Given the description of an element on the screen output the (x, y) to click on. 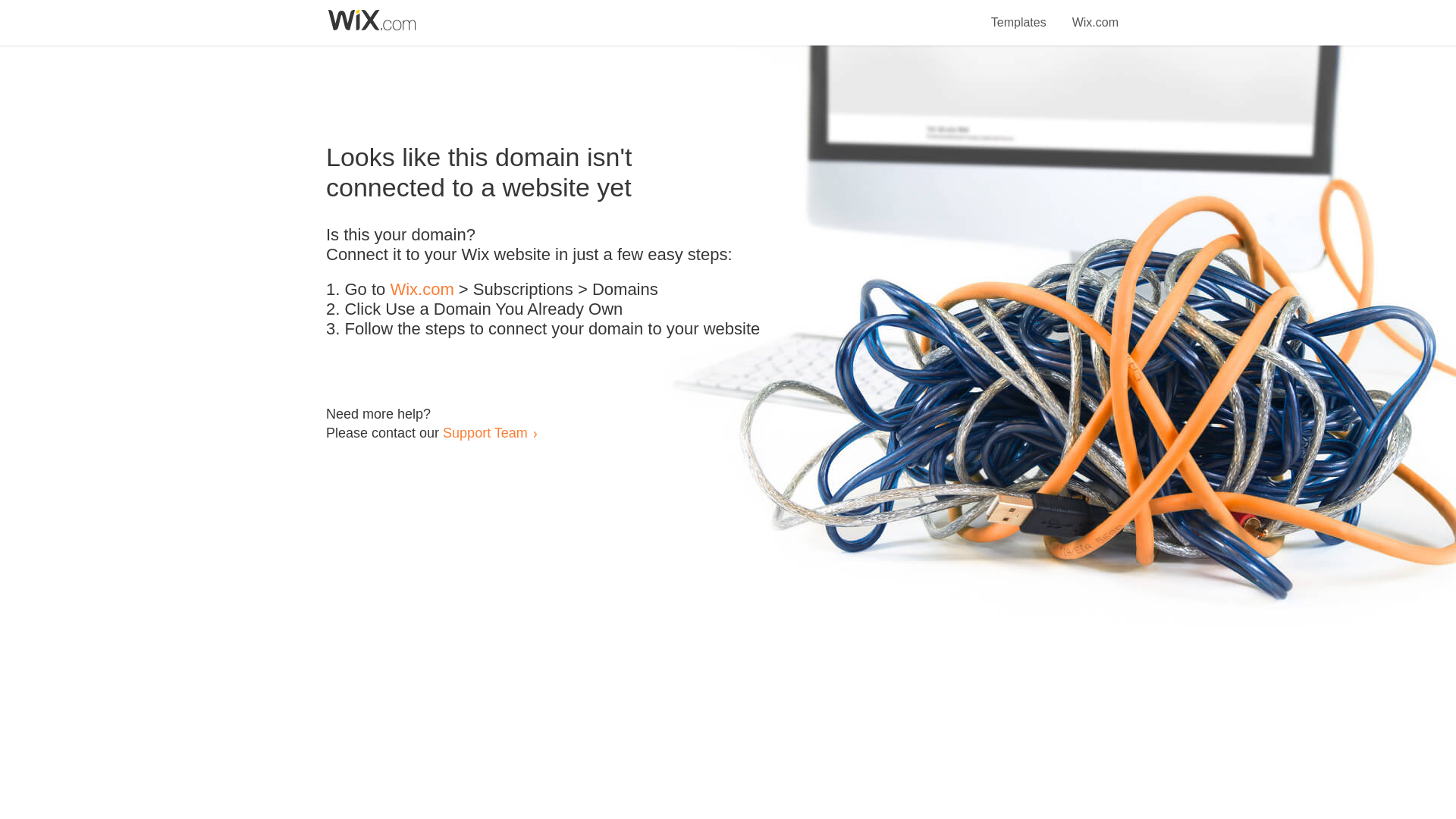
Wix.com (1095, 14)
Wix.com (421, 289)
Support Team (484, 432)
Templates (1018, 14)
